Given the description of an element on the screen output the (x, y) to click on. 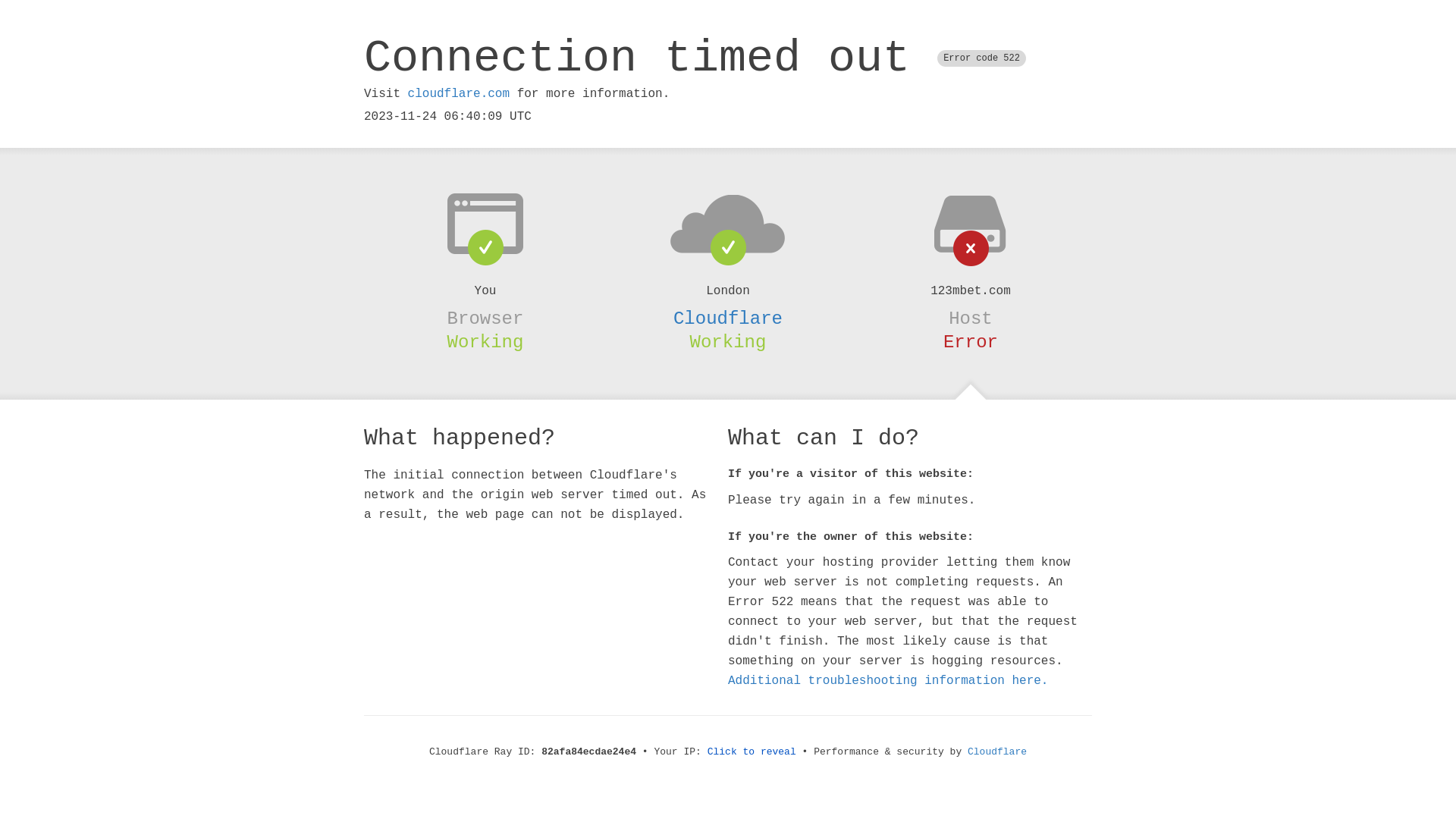
Click to reveal Element type: text (751, 751)
cloudflare.com Element type: text (458, 93)
Additional troubleshooting information here. Element type: text (888, 680)
Cloudflare Element type: text (727, 318)
Cloudflare Element type: text (996, 751)
